Given the description of an element on the screen output the (x, y) to click on. 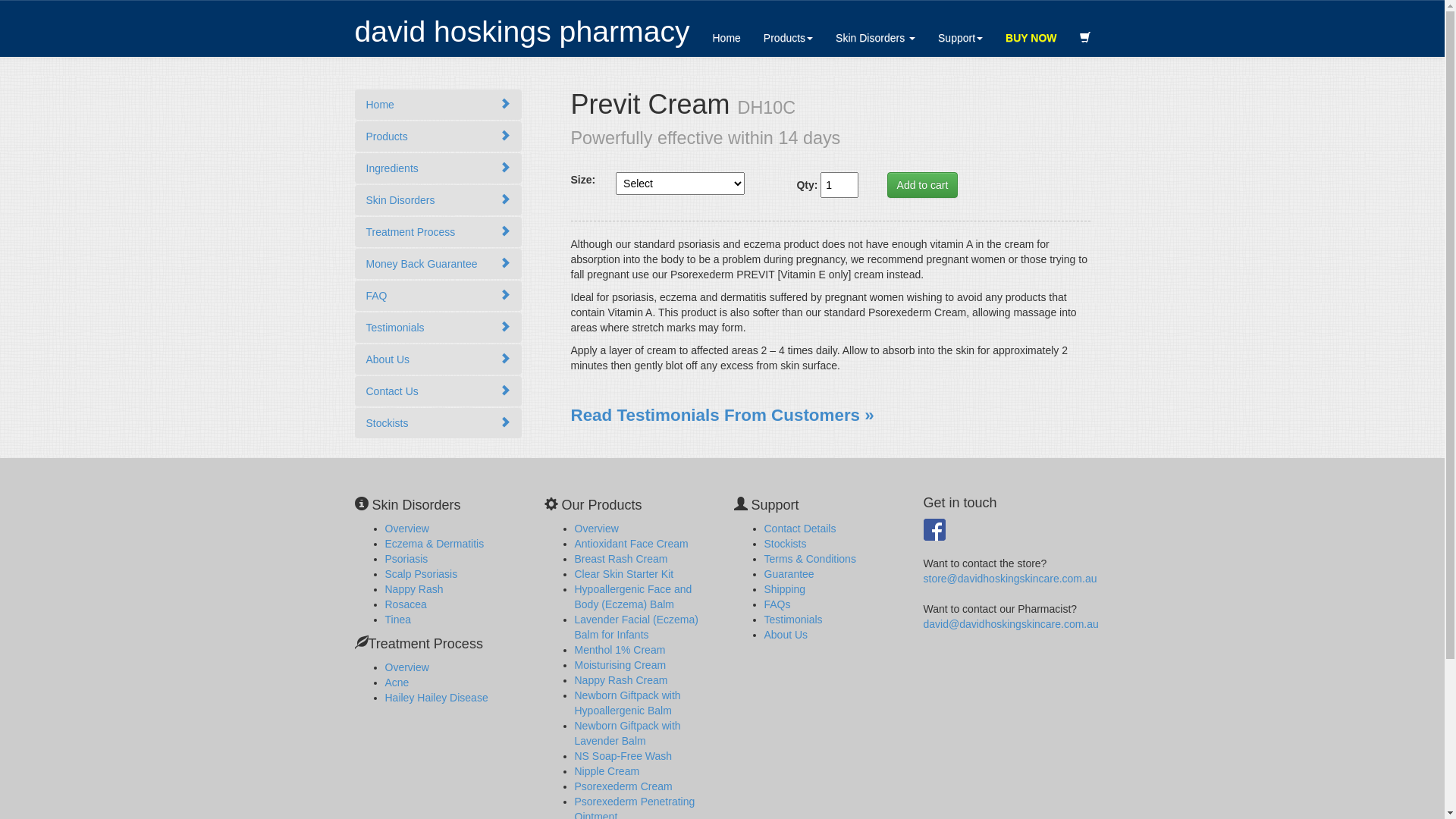
FAQs Element type: text (777, 604)
Contact Us Element type: text (437, 391)
Products Element type: text (788, 37)
Newborn Giftpack with Hypoallergenic Balm Element type: text (627, 702)
Moisturising Cream Element type: text (620, 664)
store@davidhoskingskincare.com.au Element type: text (1010, 578)
Tinea Element type: text (398, 619)
Psoriasis Element type: text (406, 558)
Menthol 1% Cream Element type: text (619, 649)
Contact Details Element type: text (800, 528)
Clear Skin Starter Kit Element type: text (624, 573)
Skin Disorders Element type: text (437, 200)
Nipple Cream Element type: text (607, 771)
About Us Element type: text (786, 634)
Newborn Giftpack with Lavender Balm Element type: text (627, 732)
Nappy Rash Cream Element type: text (621, 680)
Lavender Facial (Eczema) Balm for Infants Element type: text (636, 626)
Home Element type: text (725, 37)
Overview Element type: text (596, 528)
Eczema & Dermatitis Element type: text (434, 543)
About Us Element type: text (437, 359)
david@davidhoskingskincare.com.au Element type: text (1010, 624)
Stockists Element type: text (437, 422)
Skin Disorders Element type: text (875, 37)
Overview Element type: text (407, 528)
Products Element type: text (437, 136)
Add to cart Element type: text (922, 184)
Psorexederm Cream Element type: text (623, 786)
Acne Element type: text (397, 682)
Breast Rash Cream Element type: text (621, 558)
david hoskings pharmacy Element type: text (522, 31)
NS Soap-Free Wash Element type: text (623, 755)
FAQ Element type: text (437, 295)
Ingredients Element type: text (437, 168)
Testimonials Element type: text (793, 619)
Terms & Conditions Element type: text (810, 558)
Treatment Process Element type: text (437, 231)
Overview Element type: text (407, 667)
Scalp Psoriasis Element type: text (421, 573)
Hypoallergenic Face and Body (Eczema) Balm Element type: text (633, 596)
BUY NOW Element type: text (1030, 37)
Shipping Element type: text (785, 589)
Nappy Rash Element type: text (414, 589)
Guarantee Element type: text (789, 573)
Support Element type: text (960, 37)
Hailey Hailey Disease Element type: text (436, 697)
Rosacea Element type: text (405, 604)
Antioxidant Face Cream Element type: text (631, 543)
Testimonials Element type: text (437, 327)
Money Back Guarantee Element type: text (437, 263)
Home Element type: text (437, 104)
Stockists Element type: text (785, 543)
